Given the description of an element on the screen output the (x, y) to click on. 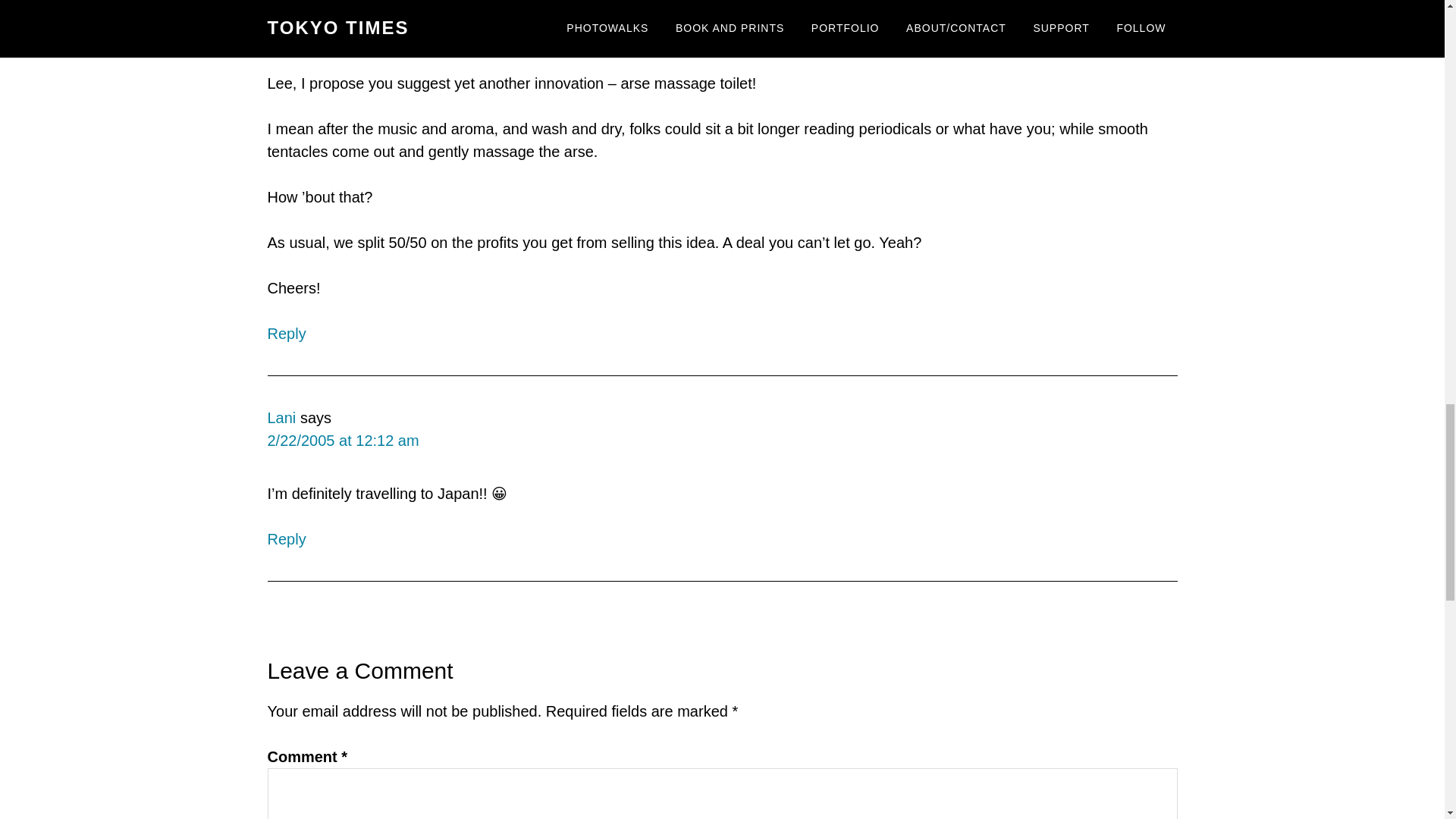
Reply (285, 333)
Reply (285, 538)
Lani (280, 417)
